Given the description of an element on the screen output the (x, y) to click on. 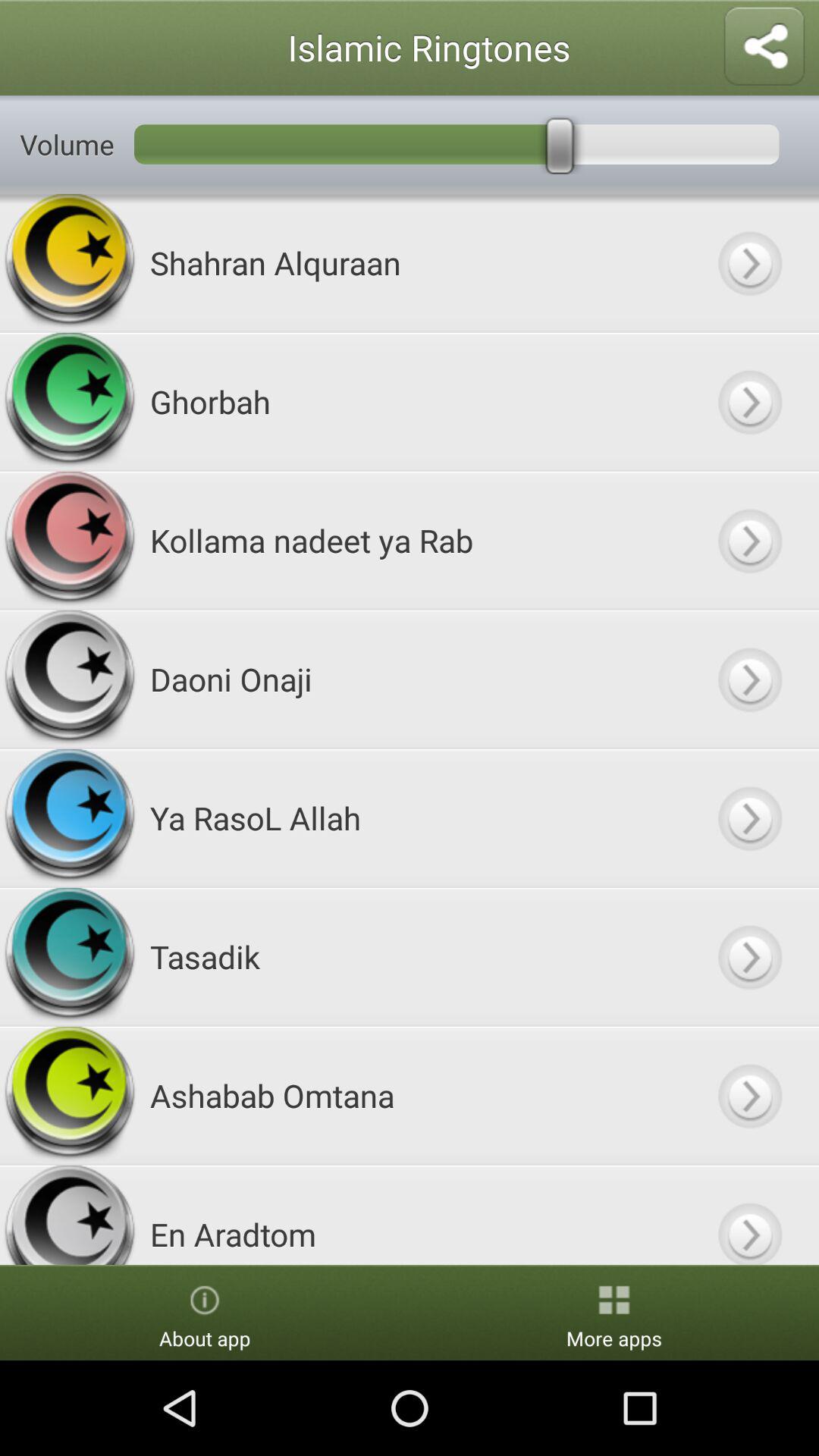
play button (749, 540)
